Given the description of an element on the screen output the (x, y) to click on. 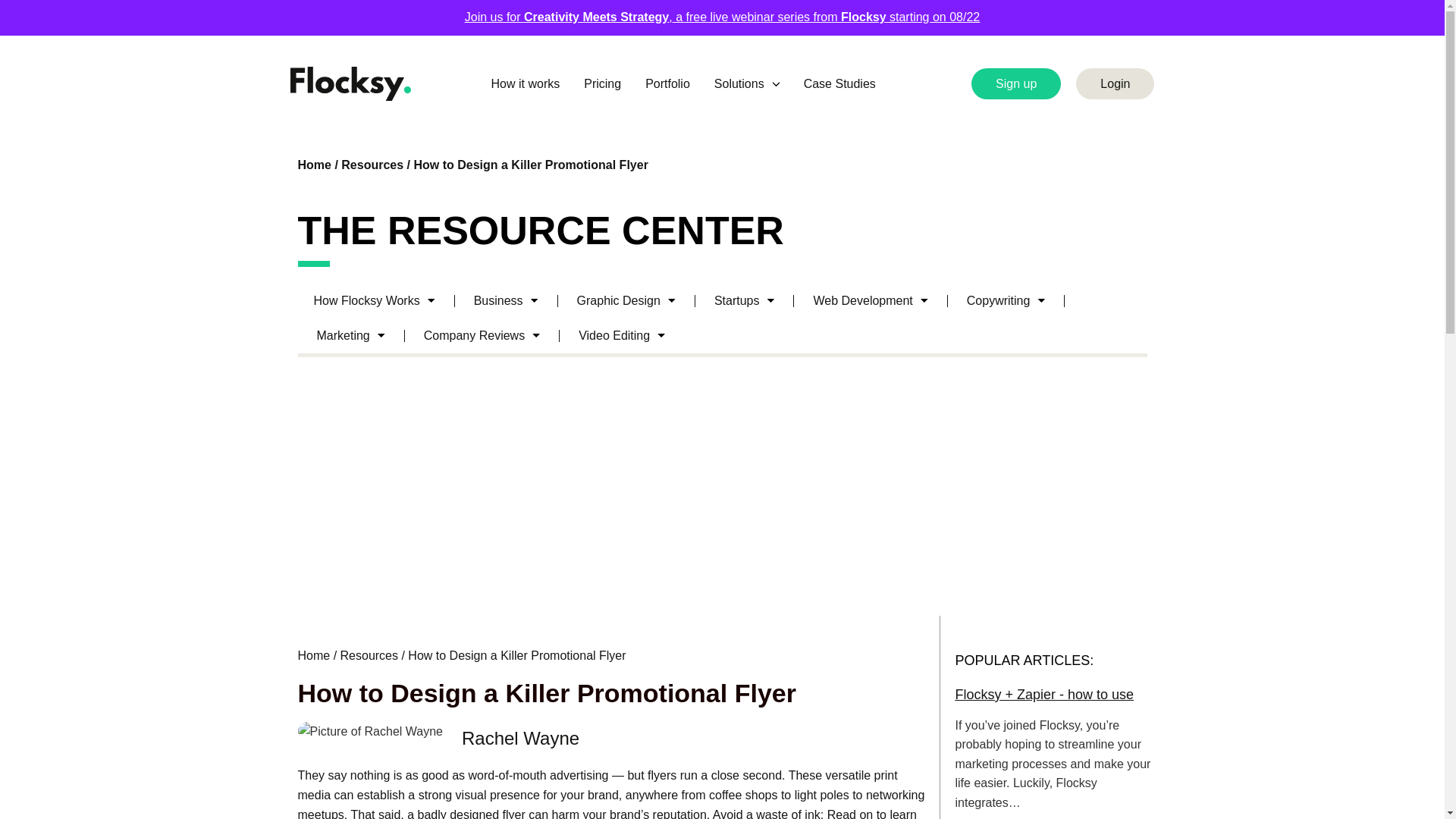
Case Studies (840, 84)
Resources (371, 164)
Pricing (602, 84)
How Flocksy Works (373, 300)
Home (313, 164)
How it works (525, 84)
Portfolio (667, 84)
Sign up (1016, 83)
Login (1114, 83)
Solutions (746, 84)
